Given the description of an element on the screen output the (x, y) to click on. 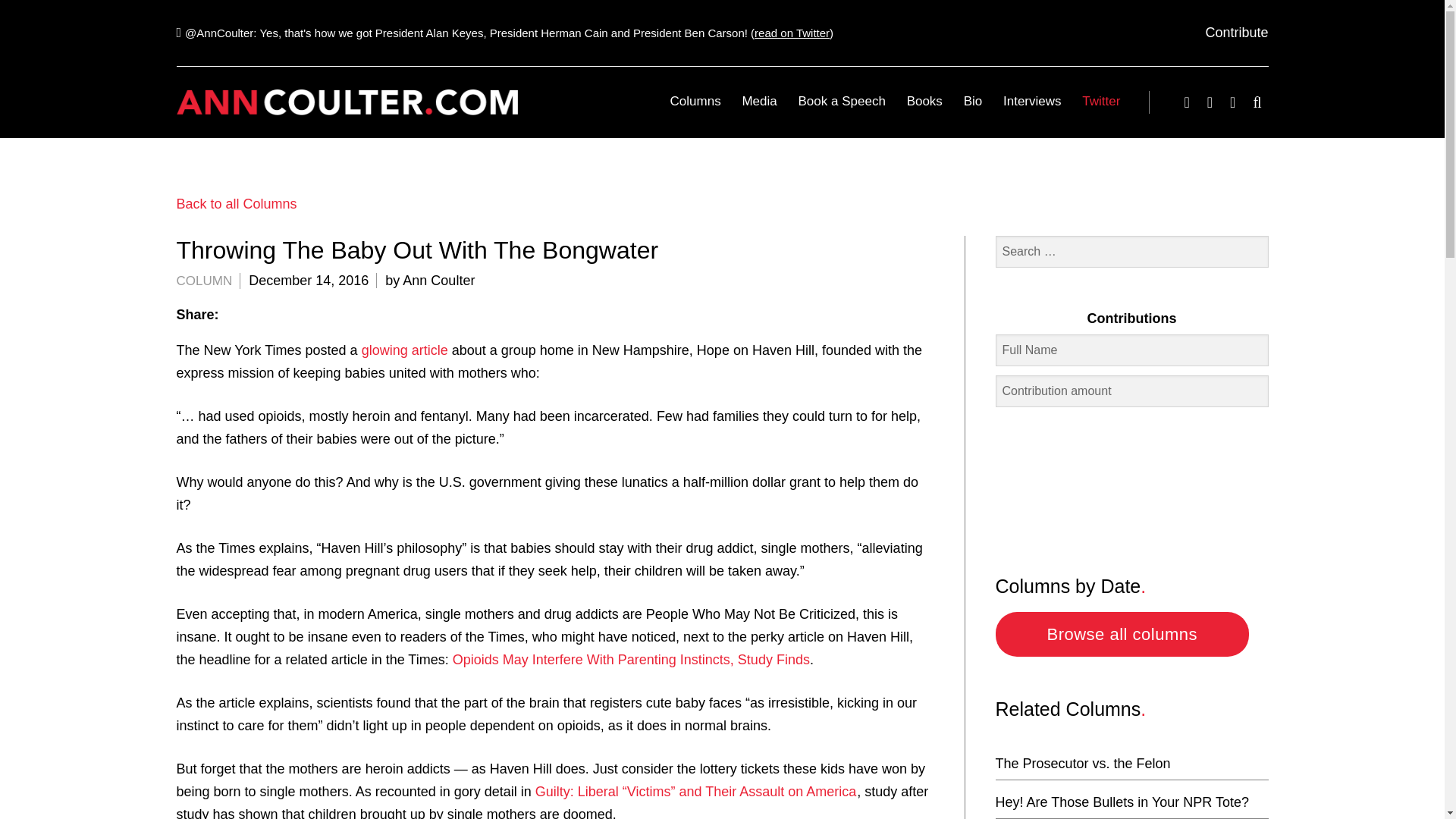
Bio (972, 101)
Media (759, 101)
Columns (695, 101)
PayPal (1131, 477)
Opioids May Interfere With Parenting Instincts, Study Finds (630, 659)
Books (924, 101)
Contribute (1236, 32)
COLUMN (203, 280)
Search (79, 22)
Twitter (1096, 101)
The Prosecutor vs. the Felon (1082, 763)
Back to all Columns (236, 203)
read on Twitter (791, 32)
Browse all columns (1121, 633)
Book a Speech (841, 101)
